Given the description of an element on the screen output the (x, y) to click on. 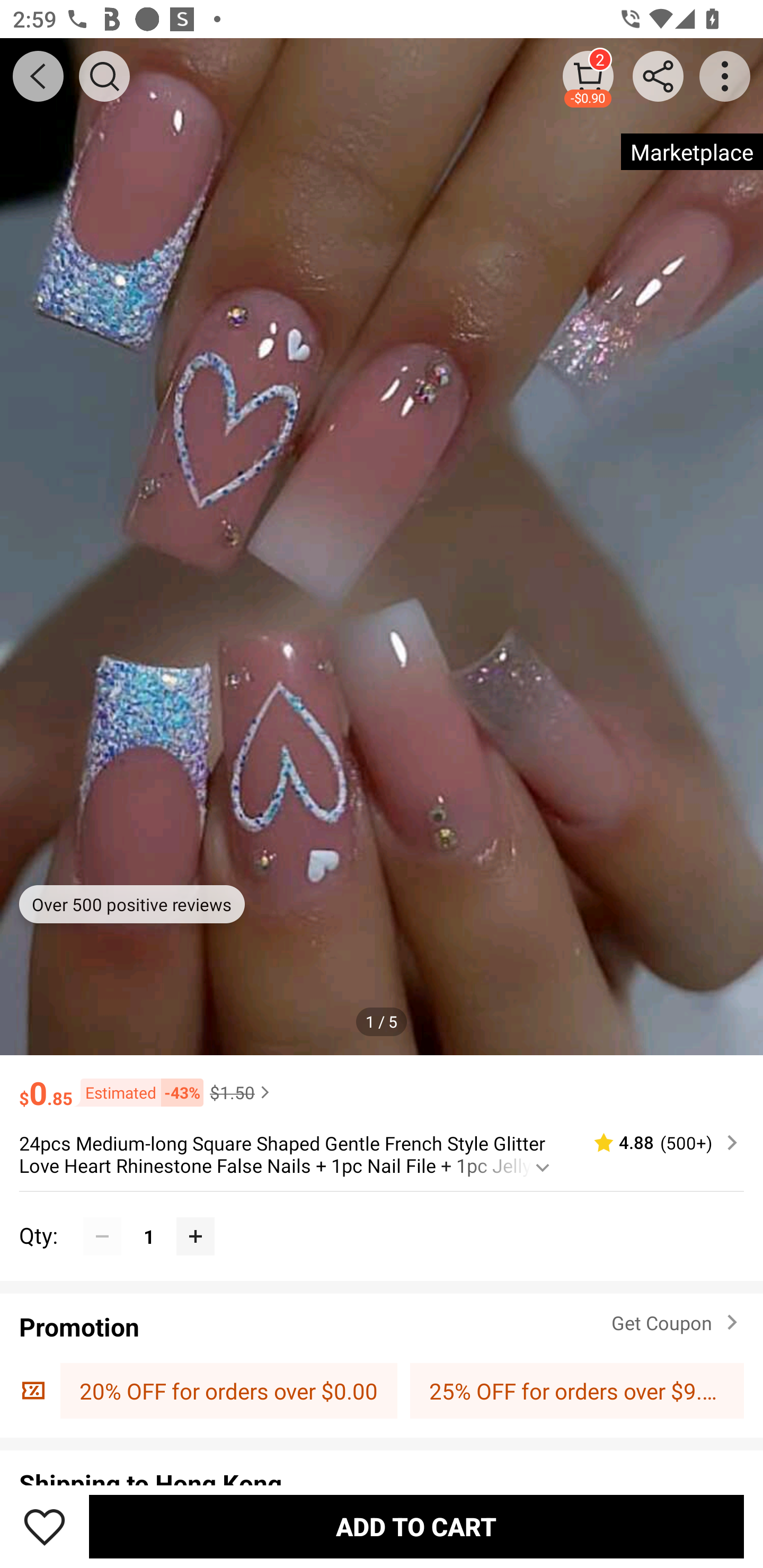
BACK (38, 75)
2 -$0.90 (588, 75)
1 / 5 (381, 1021)
$0.85 Estimated -43% $1.50 (381, 1084)
Estimated -43% (137, 1092)
$1.50 (241, 1091)
4.88 (500‎+) (658, 1142)
Qty: 1 (381, 1216)
ADD TO CART (416, 1526)
Save (44, 1526)
